Given the description of an element on the screen output the (x, y) to click on. 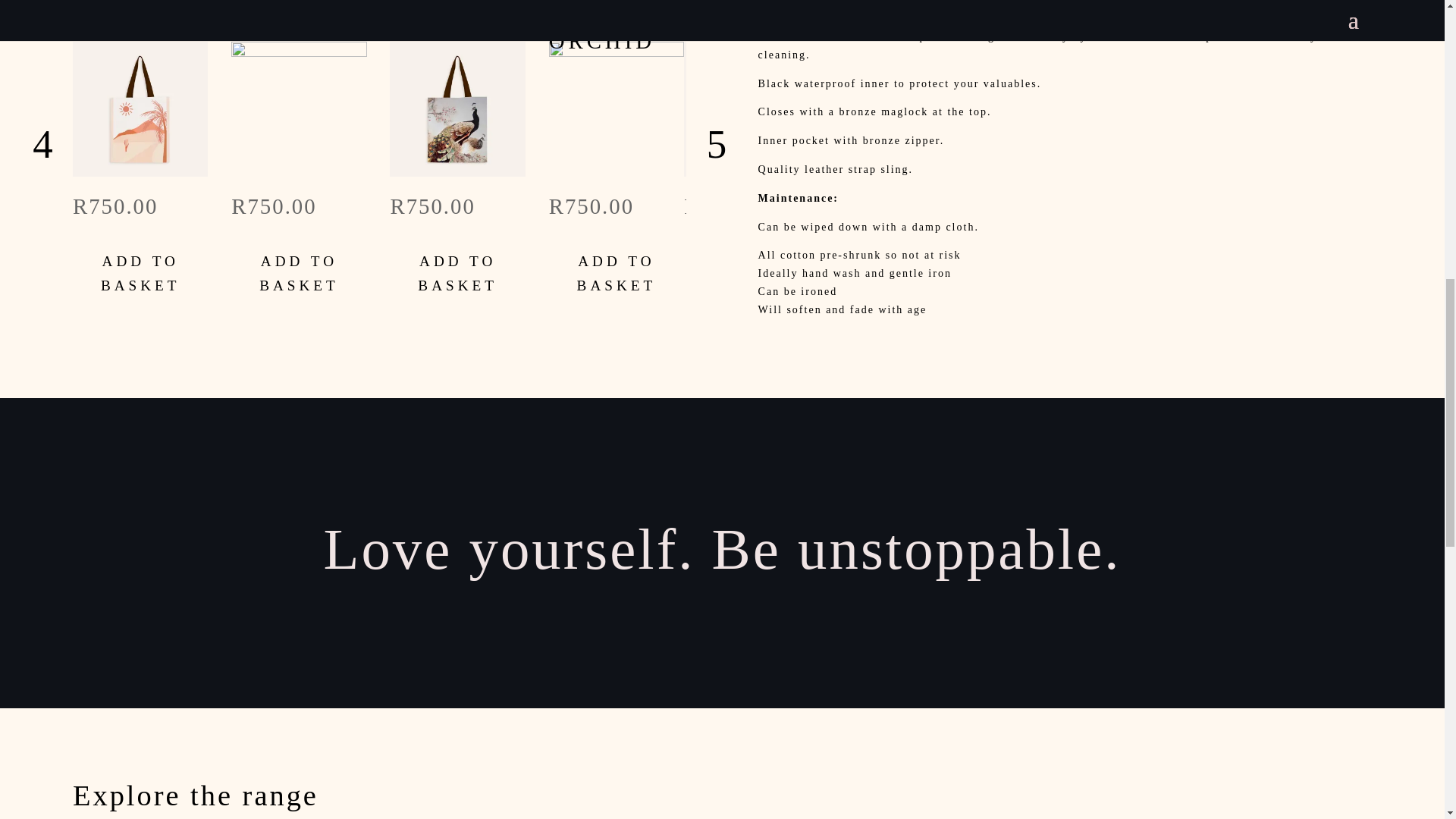
ADD TO BASKET (751, 273)
JULIET (751, 15)
POU (457, 15)
ADD TO BASKET (616, 273)
SPRINKLES (298, 15)
ADD TO BASKET (140, 273)
ADD TO BASKET (298, 273)
ADD TO BASKET (457, 273)
SUMMER (140, 15)
